Given the description of an element on the screen output the (x, y) to click on. 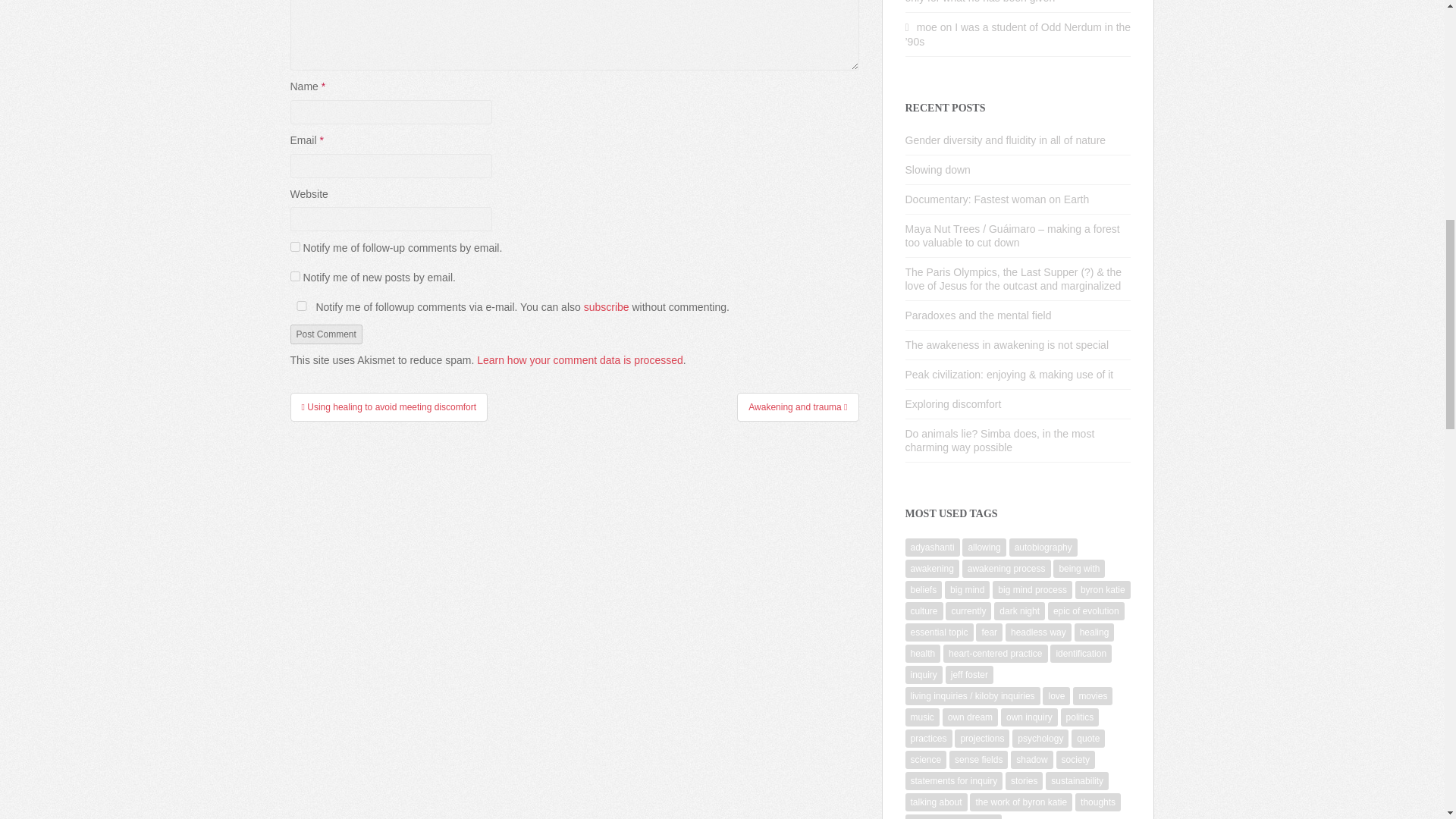
subscribe (294, 276)
subscribe (294, 246)
yes (301, 306)
Post Comment (325, 333)
